Given the description of an element on the screen output the (x, y) to click on. 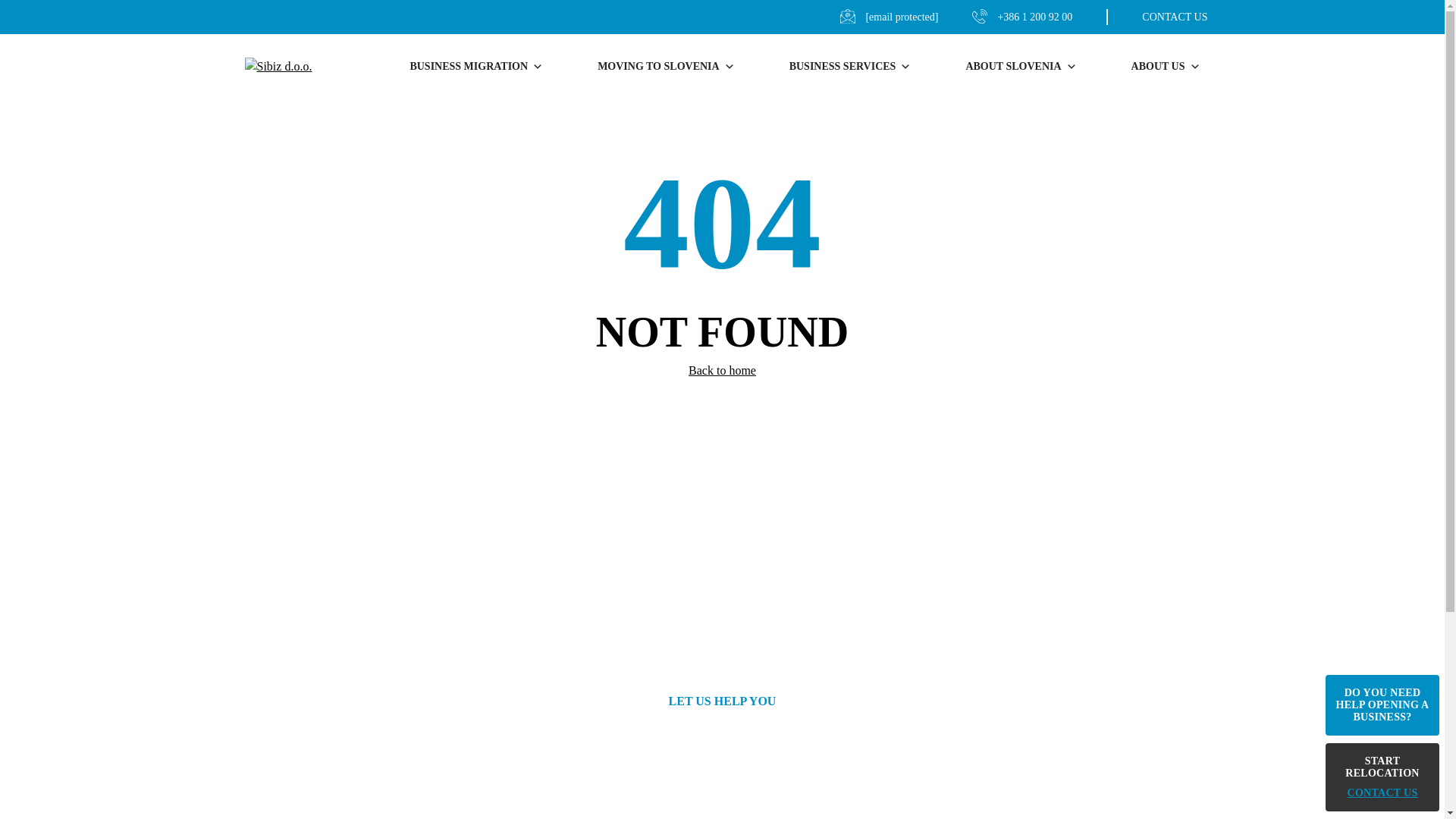
LET US HELP YOU (721, 700)
Back to home (721, 369)
CONTACT US (1156, 17)
MOVING TO SLOVENIA (665, 66)
ABOUT SLOVENIA (1020, 66)
ABOUT US (1157, 66)
BUSINESS SERVICES (850, 66)
Sibiz d.o.o. (285, 66)
BUSINESS MIGRATION (475, 66)
